Given the description of an element on the screen output the (x, y) to click on. 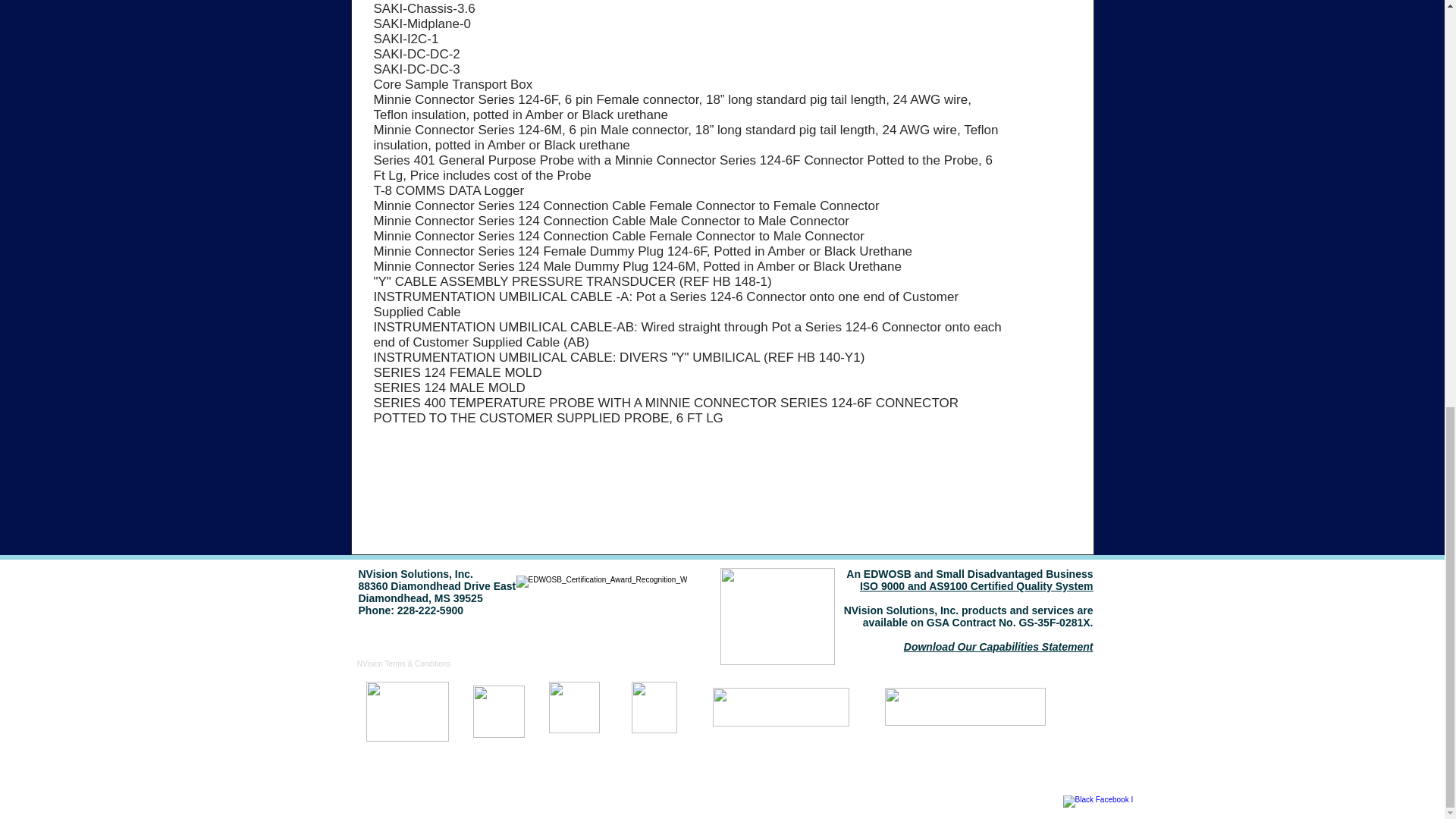
Download Our Capabilities Statement (998, 646)
ISO 9000 and AS9100 Certified Quality System (976, 585)
